Given the description of an element on the screen output the (x, y) to click on. 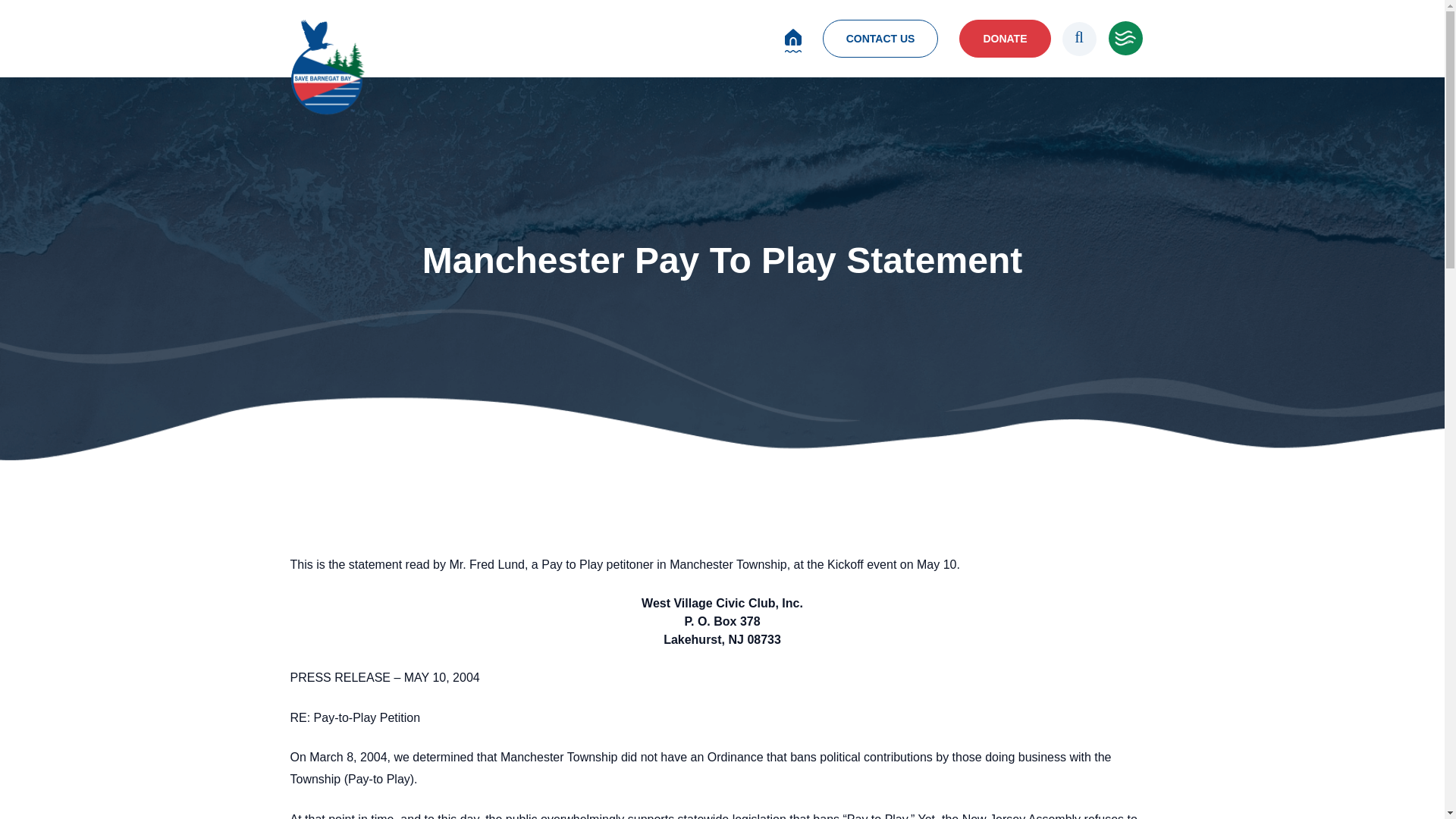
HOME (793, 36)
DONATE (1004, 38)
CONTACT US (880, 38)
